Given the description of an element on the screen output the (x, y) to click on. 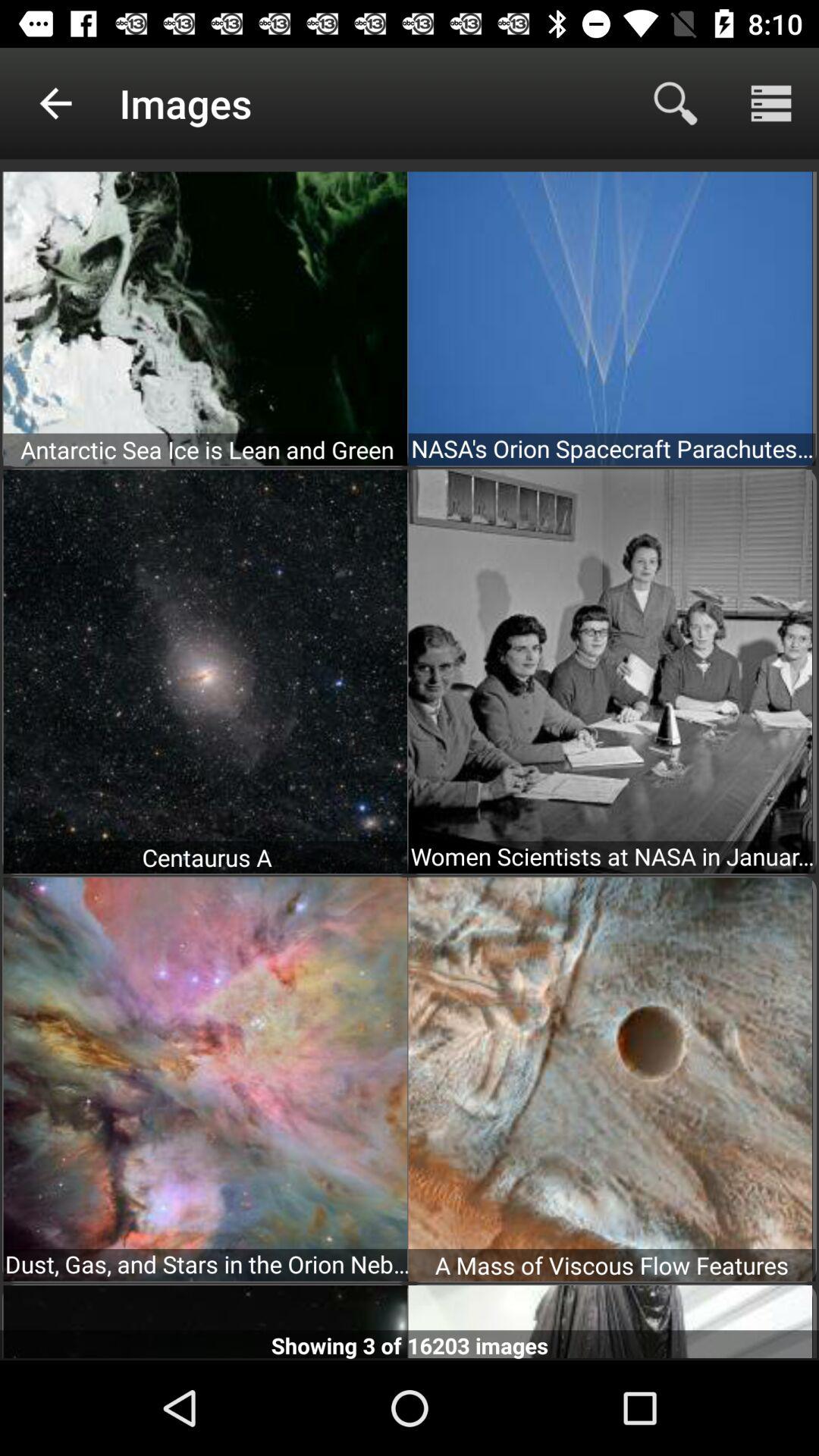
turn on the icon next to images (55, 103)
